Given the description of an element on the screen output the (x, y) to click on. 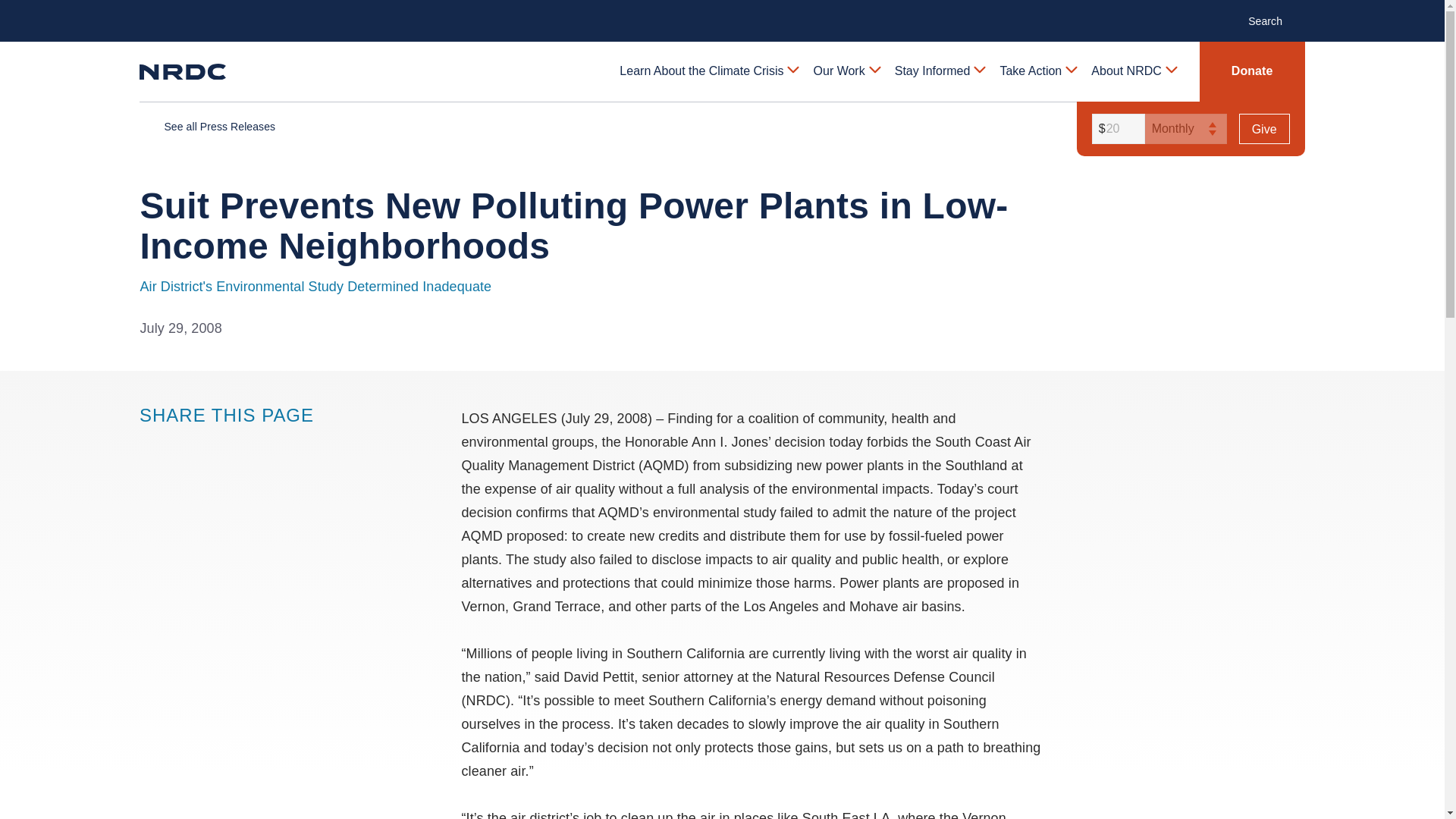
Stay Informed (939, 71)
Our Work (846, 71)
20 (1116, 128)
Learn About the Climate Crisis (707, 71)
Share this page block (149, 444)
Search (1272, 19)
Share this page block (180, 444)
Share this page block (210, 444)
Skip to main content (721, 12)
